Given the description of an element on the screen output the (x, y) to click on. 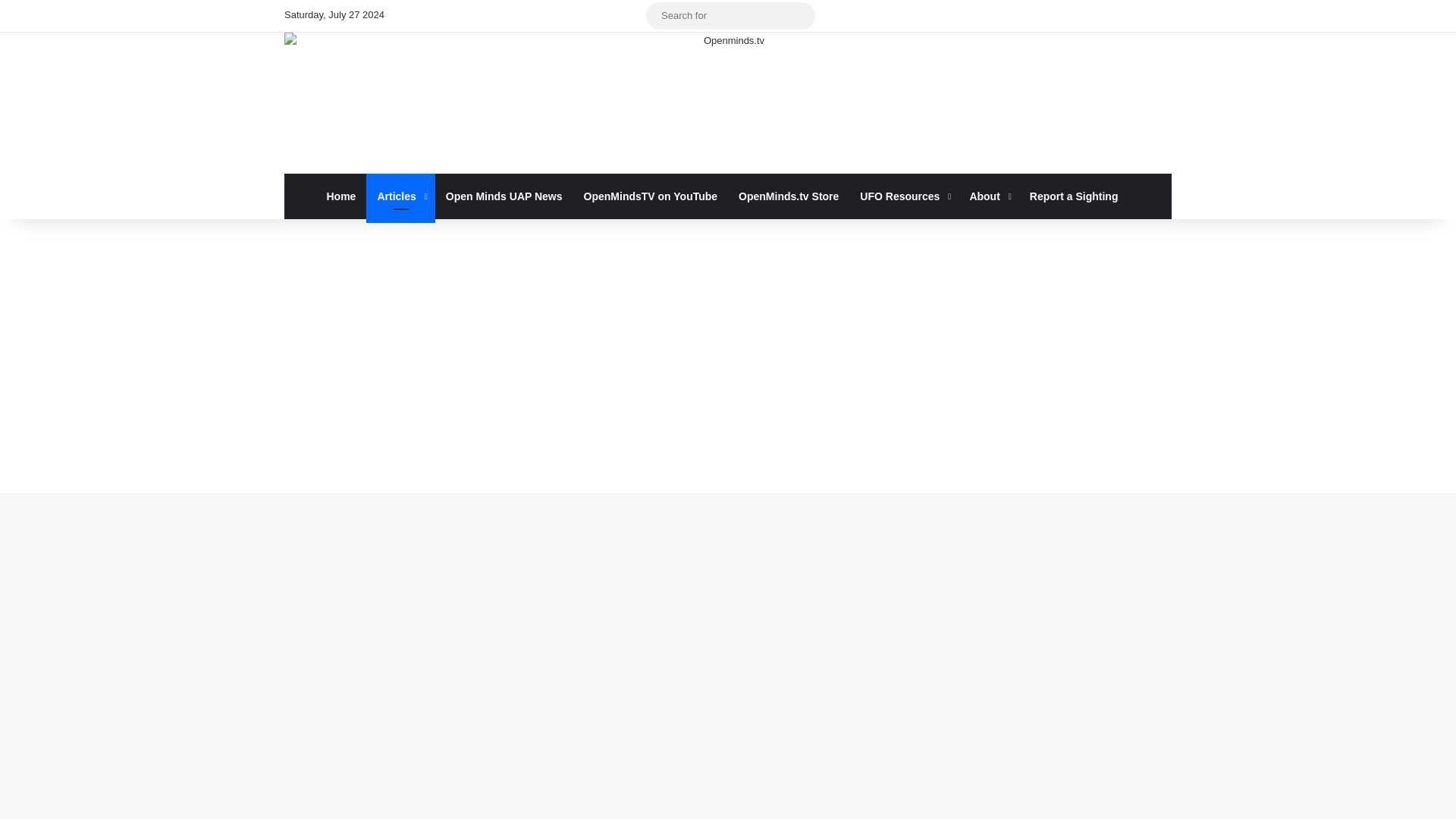
About (987, 196)
YouTube (475, 15)
Patreon (566, 15)
OpenMinds.tv Store (788, 196)
Spotify (520, 15)
Home (340, 196)
Open Minds UAP News (504, 196)
TikTok (543, 15)
Sidebar (634, 15)
X (430, 15)
Search for (730, 15)
Openminds.tv (727, 102)
Random Article (611, 15)
RSS (588, 15)
OpenMindsTV on YouTube (651, 196)
